Given the description of an element on the screen output the (x, y) to click on. 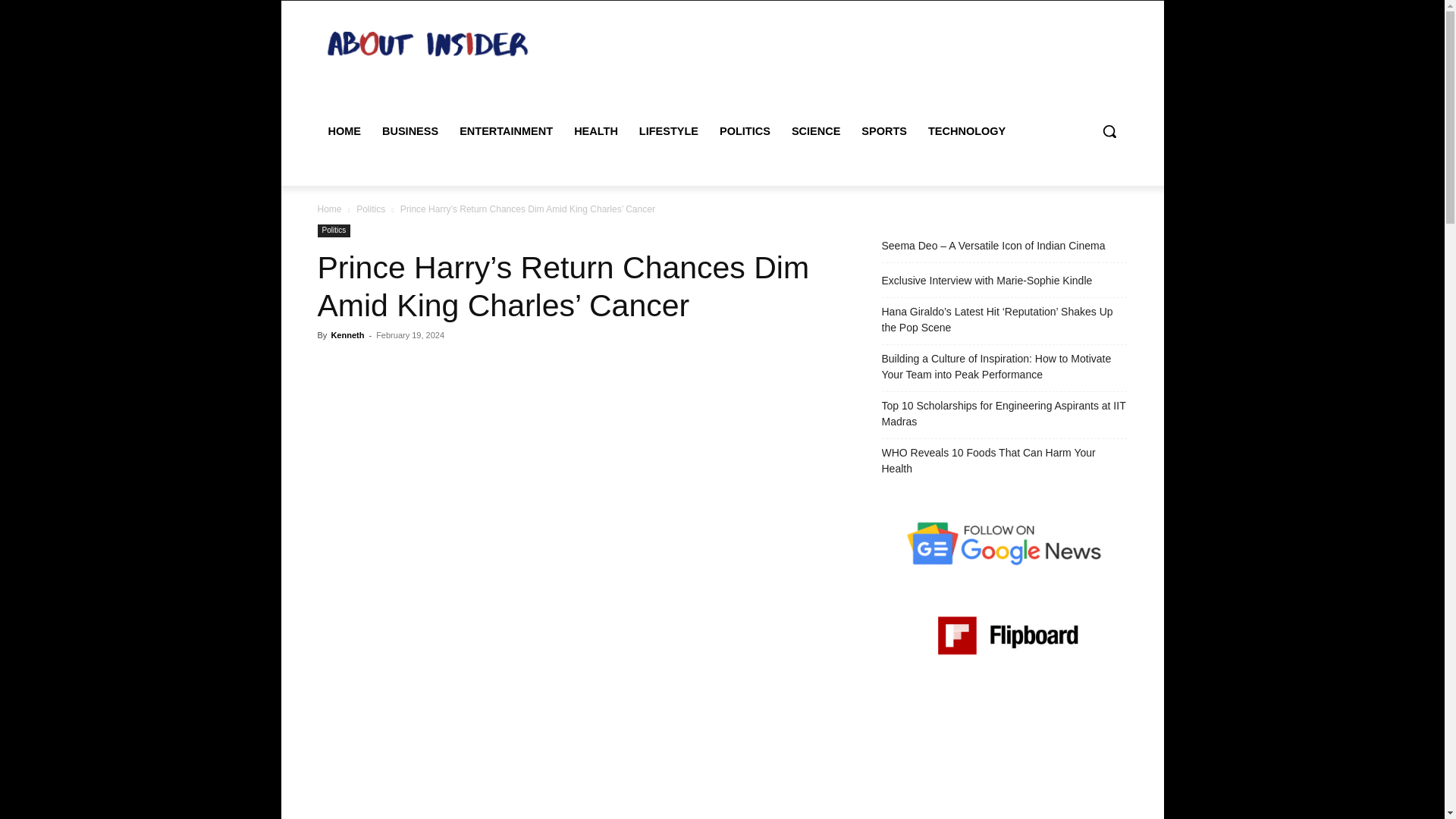
TECHNOLOGY (966, 131)
Politics (370, 208)
POLITICS (744, 131)
LIFESTYLE (668, 131)
BUSINESS (409, 131)
View all posts in Politics (370, 208)
Kenneth (347, 334)
HEALTH (595, 131)
Home (328, 208)
SPORTS (883, 131)
